Given the description of an element on the screen output the (x, y) to click on. 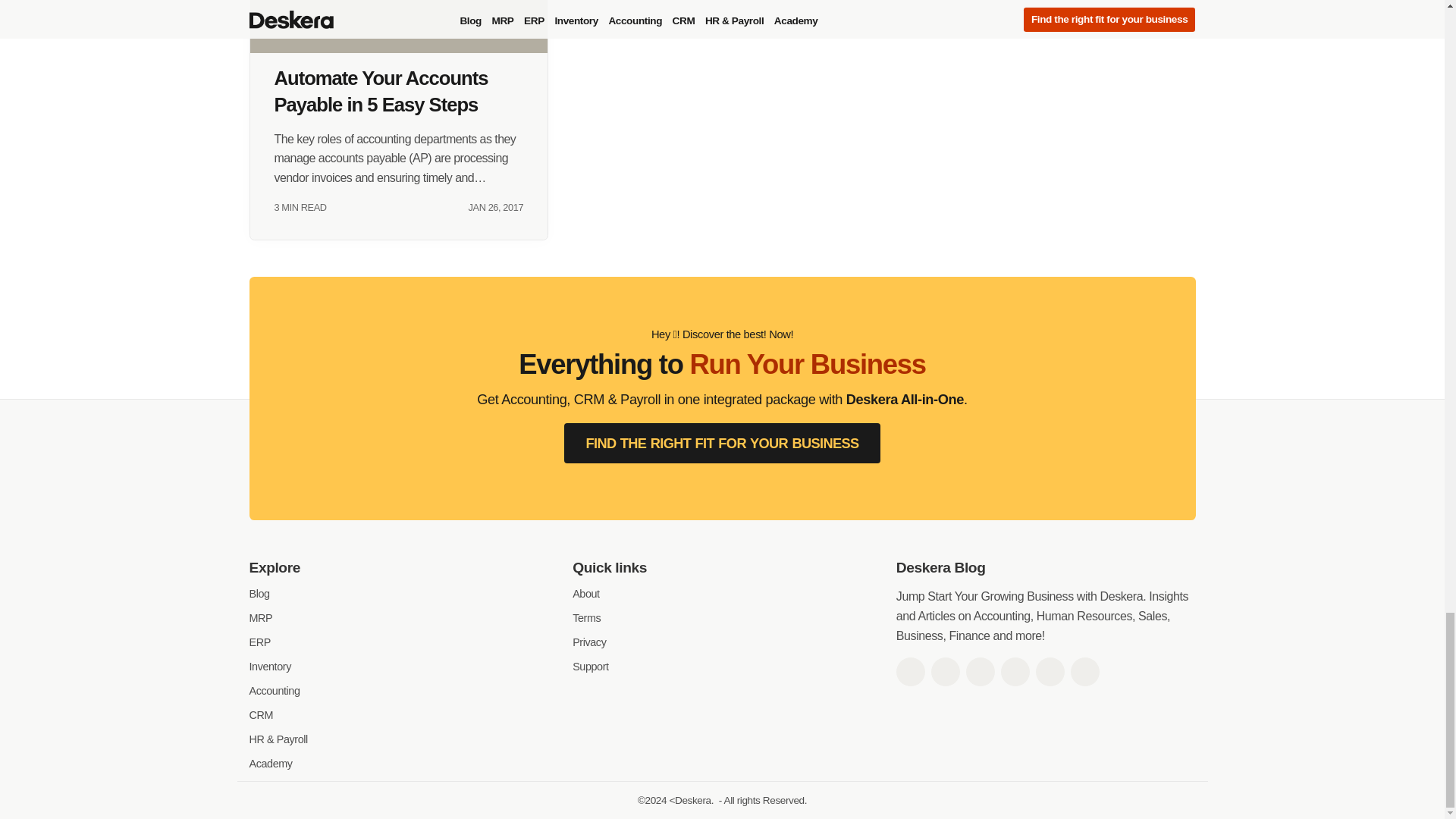
Automate Your Accounts Payable in 5 Easy Steps (399, 26)
Facebook (910, 671)
Deskera Linkedin (980, 671)
Deskera YouTube (1015, 671)
RSS (1084, 671)
Github (1049, 671)
Twitter (945, 671)
